Given the description of an element on the screen output the (x, y) to click on. 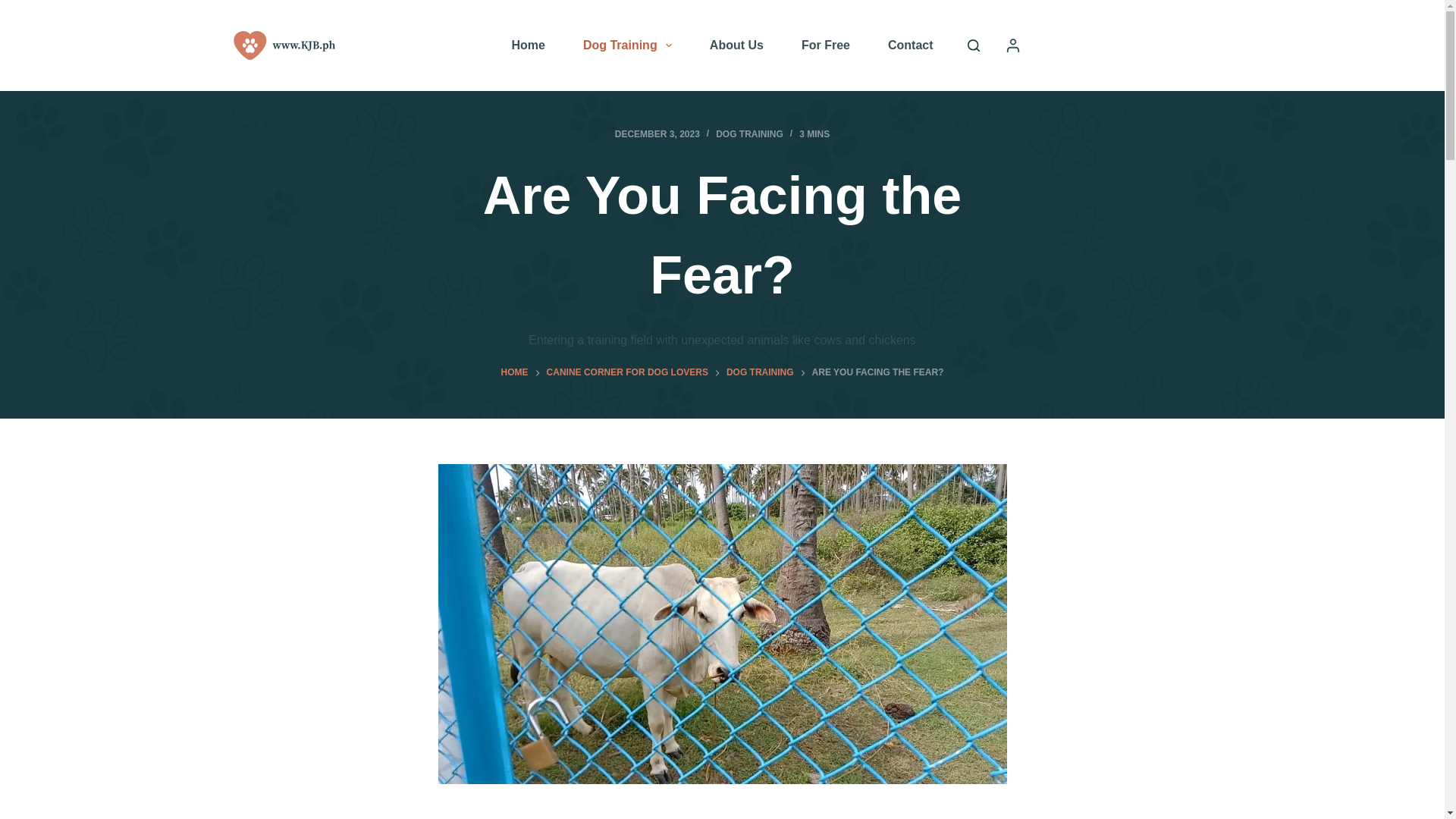
About Us (736, 45)
Are You Facing the Fear? (722, 235)
Skip to content (15, 7)
CANINE CORNER FOR DOG LOVERS (627, 372)
Home (527, 45)
HOME (514, 372)
DOG TRAINING (749, 133)
Free Dog Training Videos (826, 45)
DOG TRAINING (759, 372)
Dog Training (627, 45)
